Given the description of an element on the screen output the (x, y) to click on. 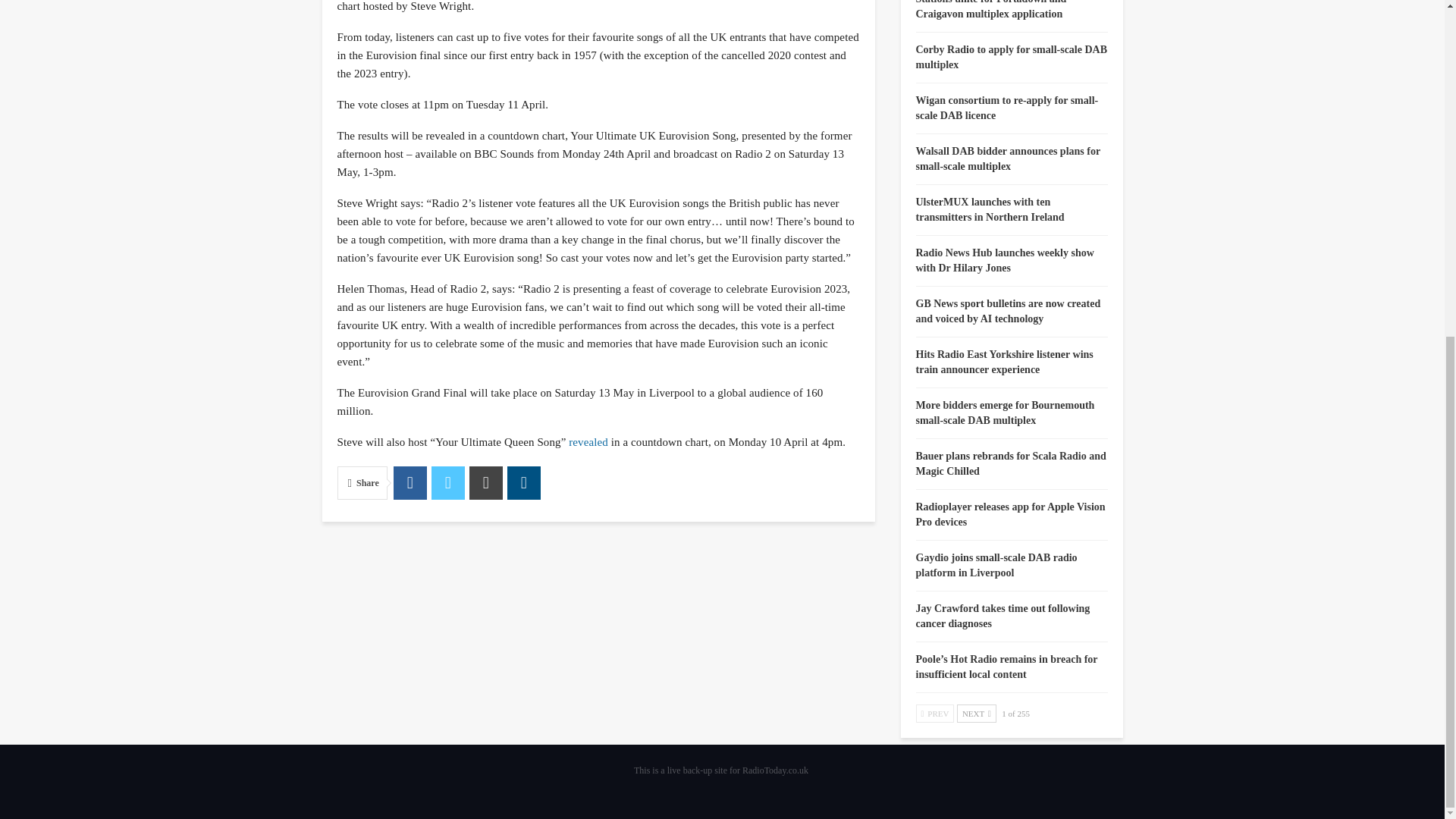
Walsall DAB bidder announces plans for small-scale multiplex (1007, 158)
Radio News Hub launches weekly show with Dr Hilary Jones (1004, 260)
UlsterMUX launches with ten transmitters in Northern Ireland (989, 209)
Previous (935, 713)
Corby Radio to apply for small-scale DAB multiplex (1011, 57)
revealed (588, 441)
NEXT (975, 713)
Bauer plans rebrands for Scala Radio and Magic Chilled (1010, 463)
Next (975, 713)
Radioplayer releases app for Apple Vision Pro devices (1010, 514)
Wigan consortium to re-apply for small-scale DAB licence (1007, 108)
Gaydio joins small-scale DAB radio platform in Liverpool (996, 565)
